Given the description of an element on the screen output the (x, y) to click on. 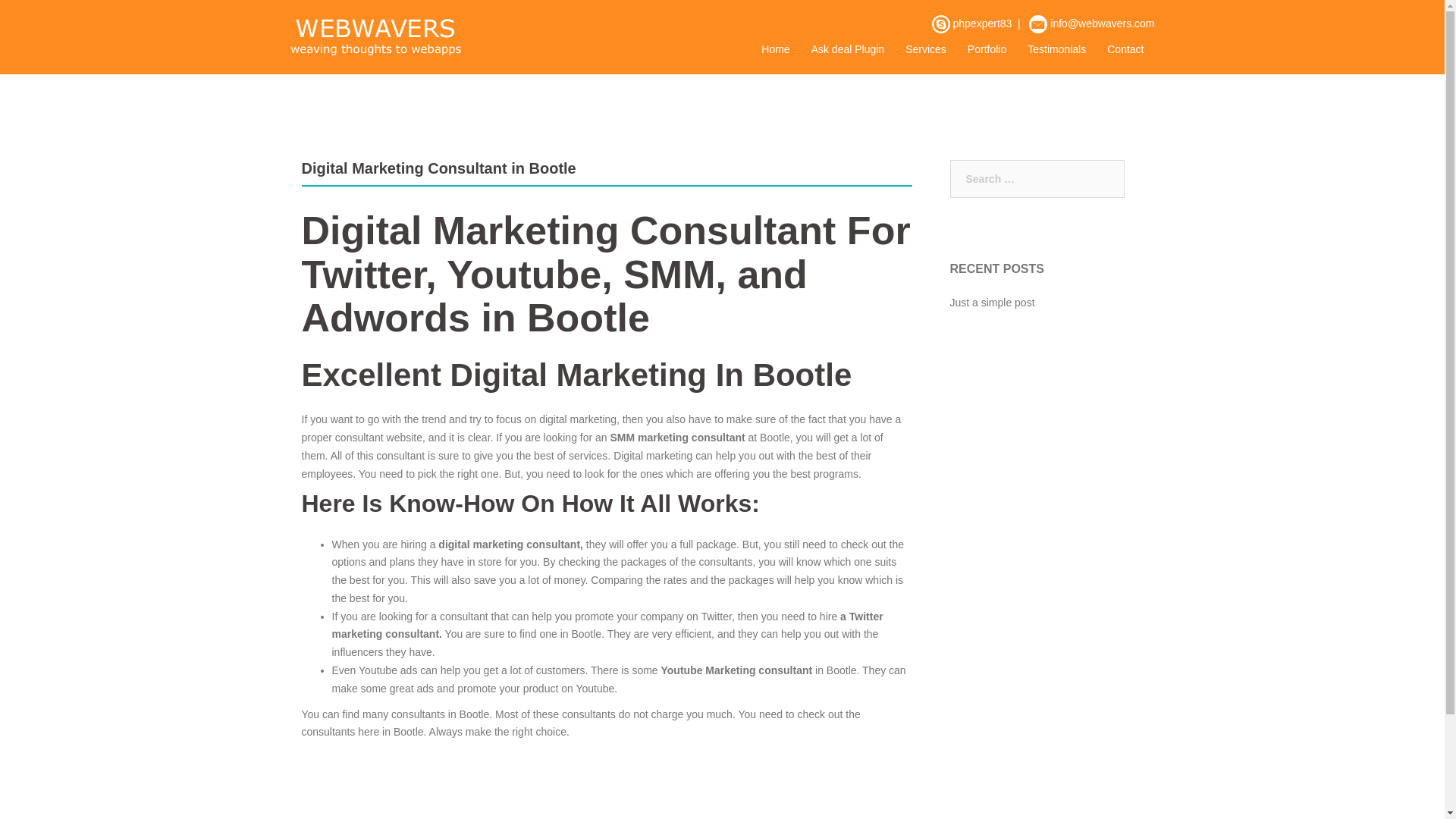
Services (925, 49)
Portfolio (987, 49)
Ask deal Plugin (847, 49)
phpexpert83 (981, 23)
Home (775, 49)
Contact (1124, 49)
Web Wavers (374, 36)
Testimonials (1056, 49)
Just a simple post (991, 302)
Search (47, 18)
